Given the description of an element on the screen output the (x, y) to click on. 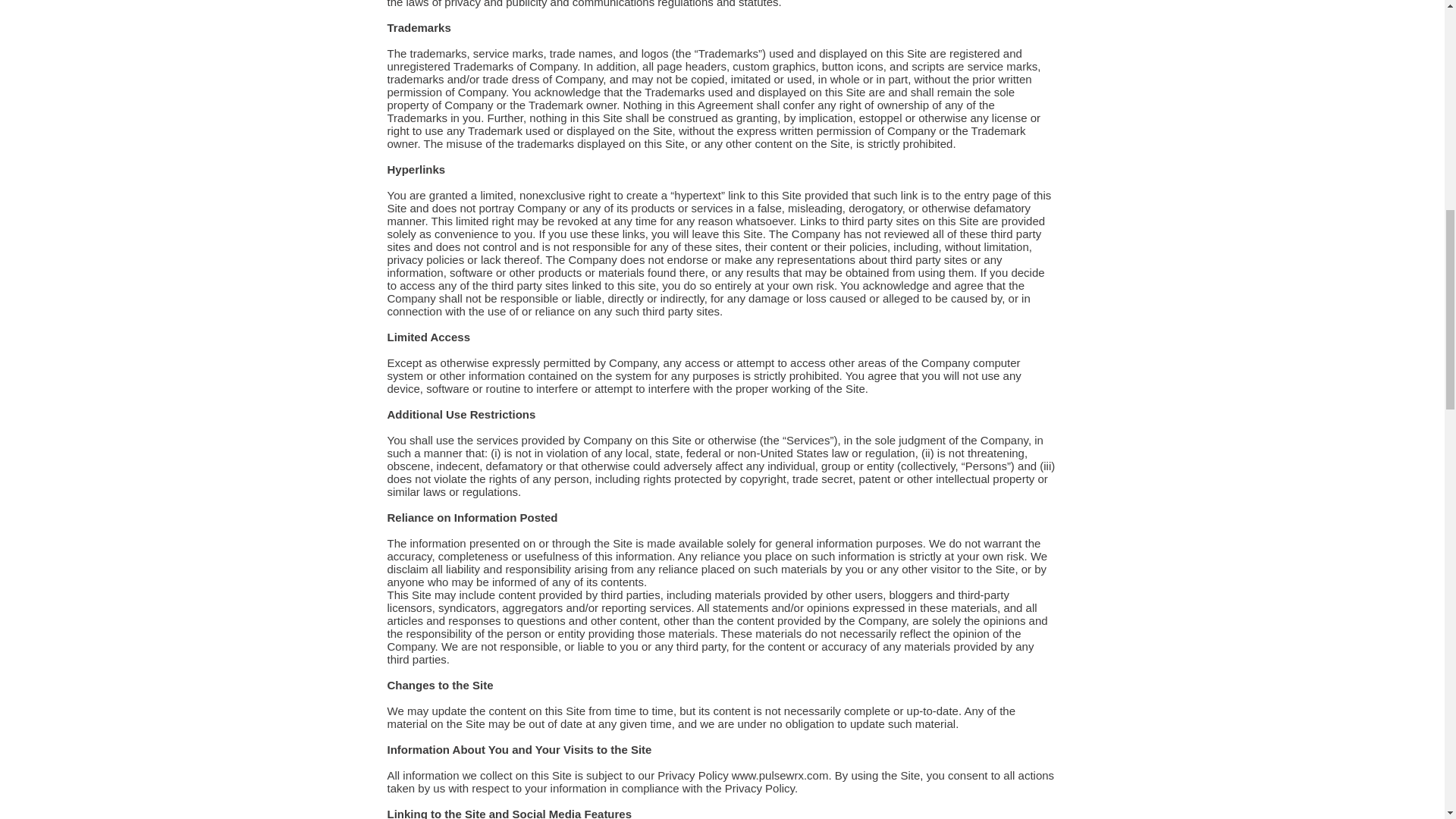
www.pulsewrx.com (780, 775)
